Given the description of an element on the screen output the (x, y) to click on. 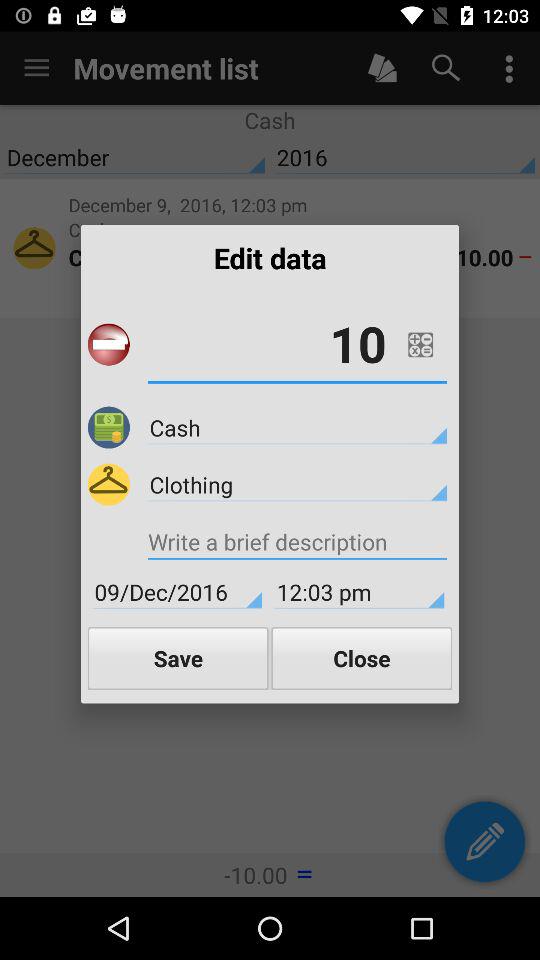
open the icon above 09/dec/2016 item (297, 544)
